Given the description of an element on the screen output the (x, y) to click on. 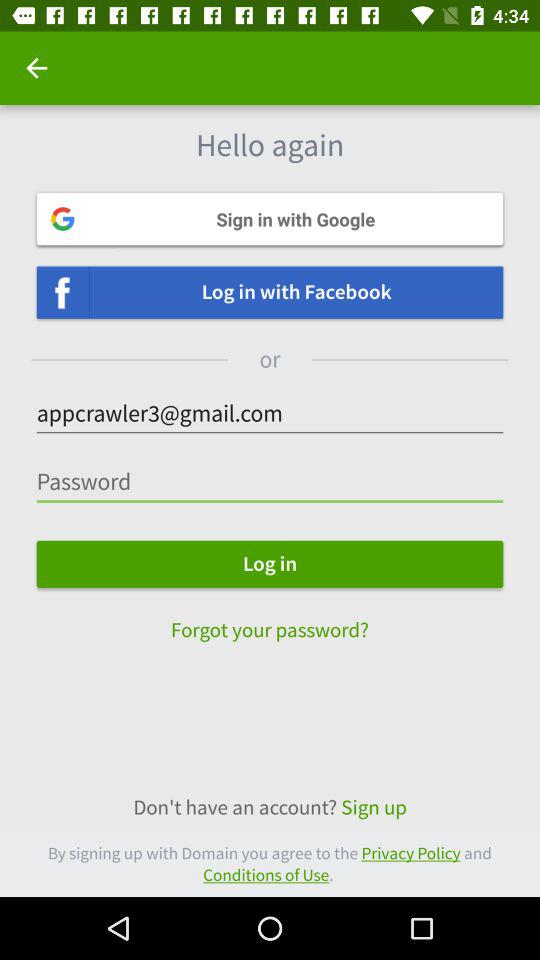
click forgot your password? (269, 619)
